Given the description of an element on the screen output the (x, y) to click on. 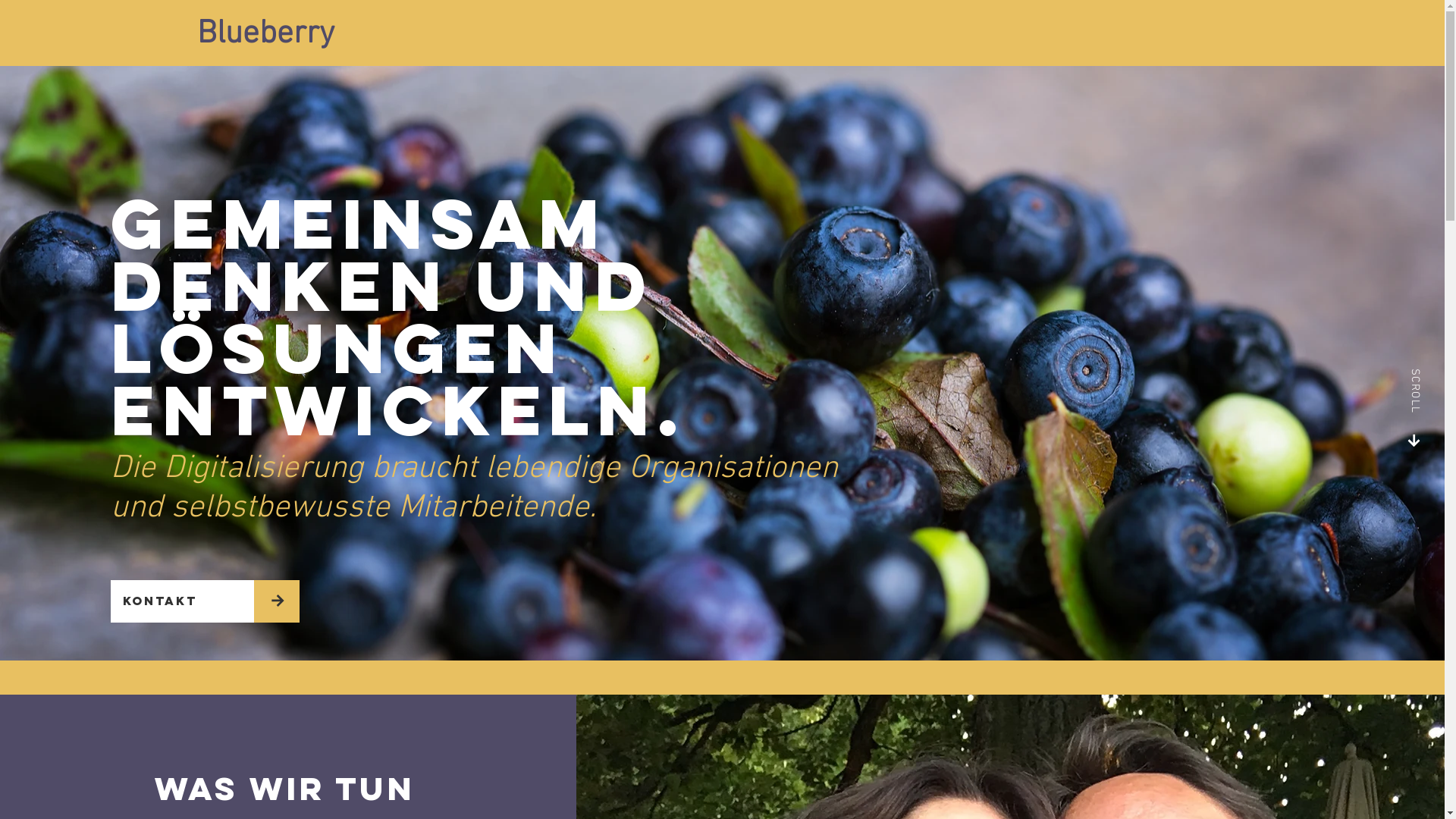
Kontakt Element type: text (182, 601)
